Given the description of an element on the screen output the (x, y) to click on. 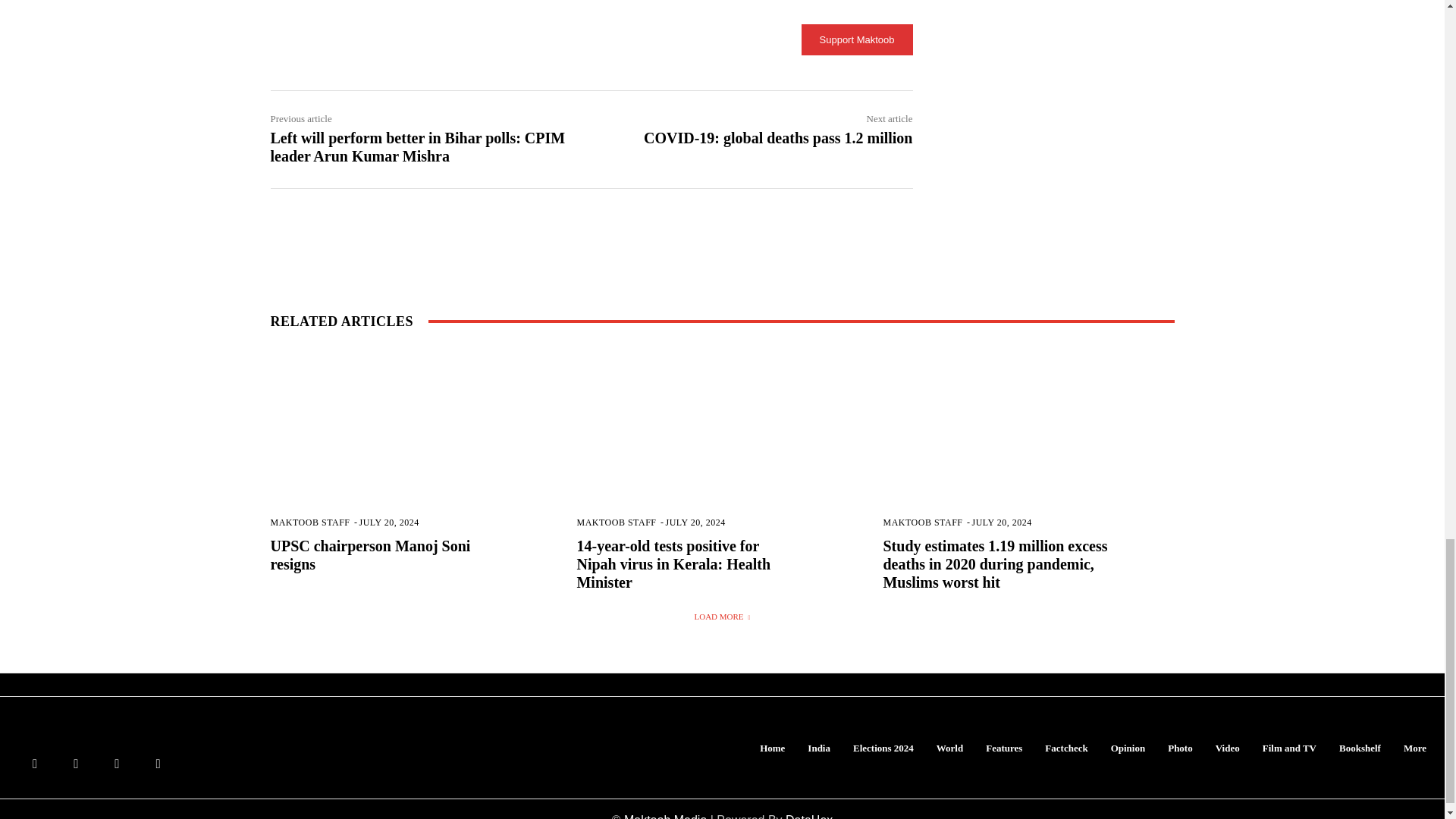
Support Maktoob (857, 39)
